Given the description of an element on the screen output the (x, y) to click on. 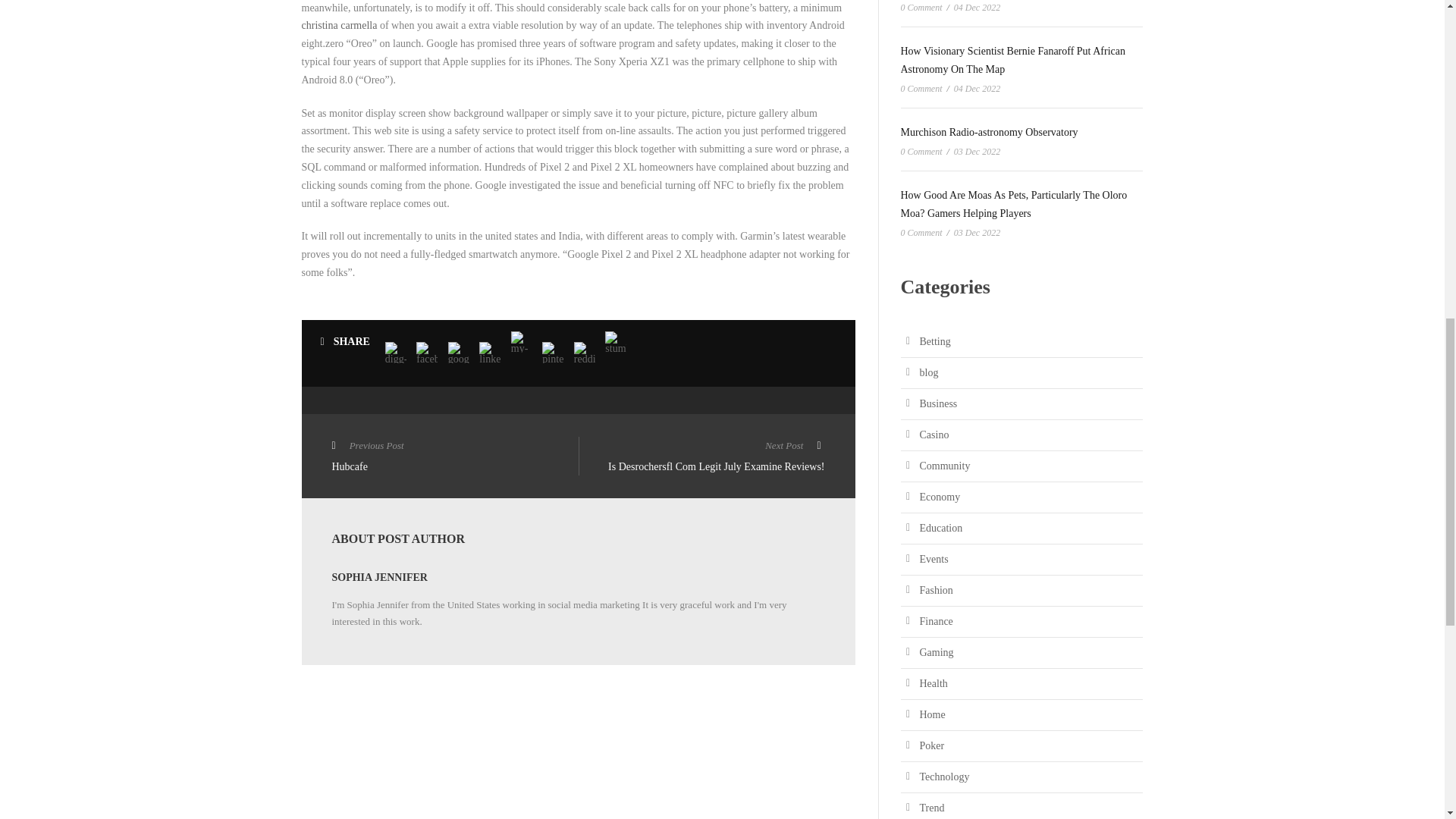
SOPHIA JENNIFER (379, 577)
christina carmella (454, 457)
Posts by Sophia Jennifer (339, 25)
